Given the description of an element on the screen output the (x, y) to click on. 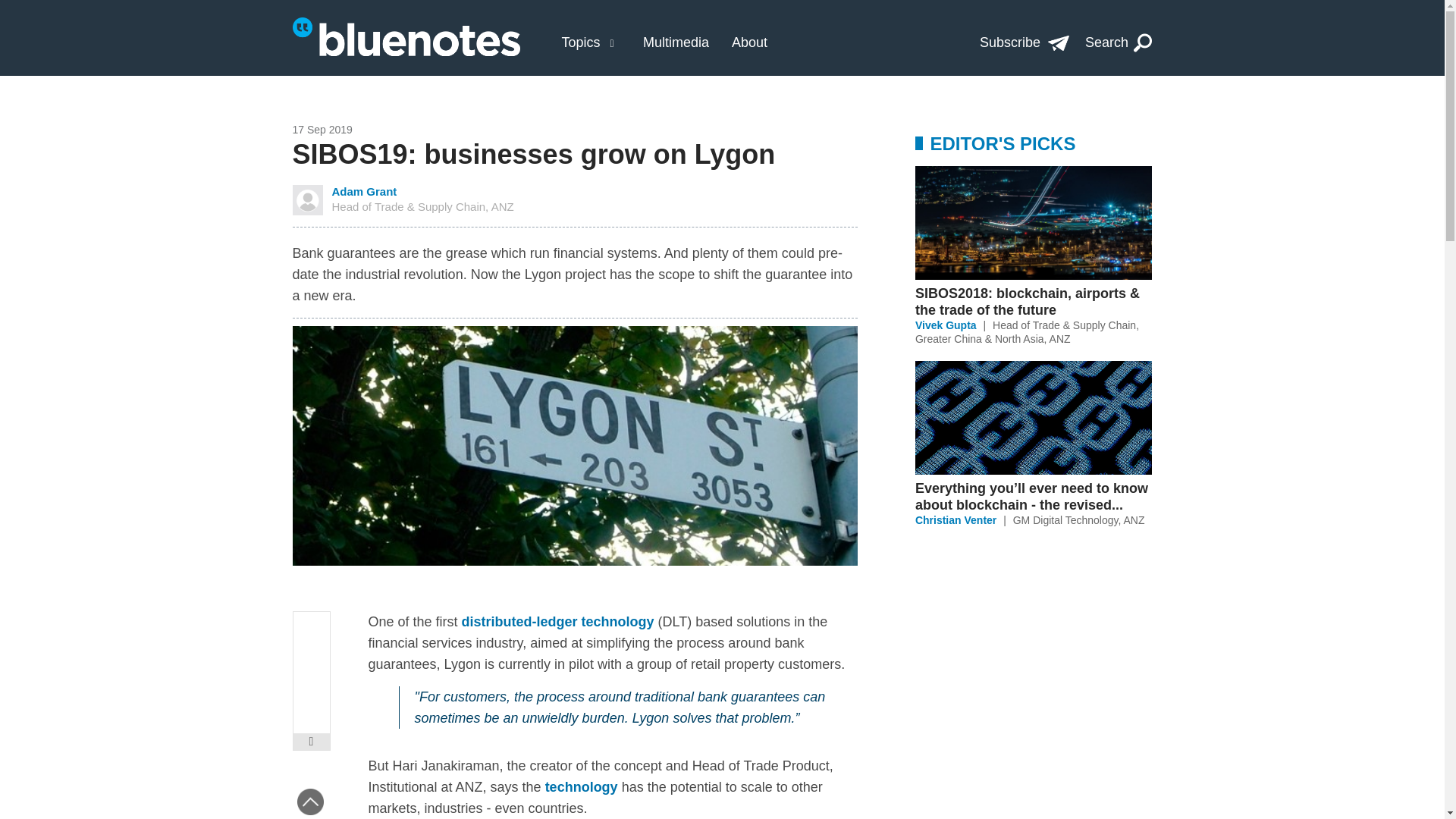
Multimedia (676, 42)
Search (1078, 520)
About (1118, 42)
Subscribe (749, 42)
Topics (1023, 42)
